Given the description of an element on the screen output the (x, y) to click on. 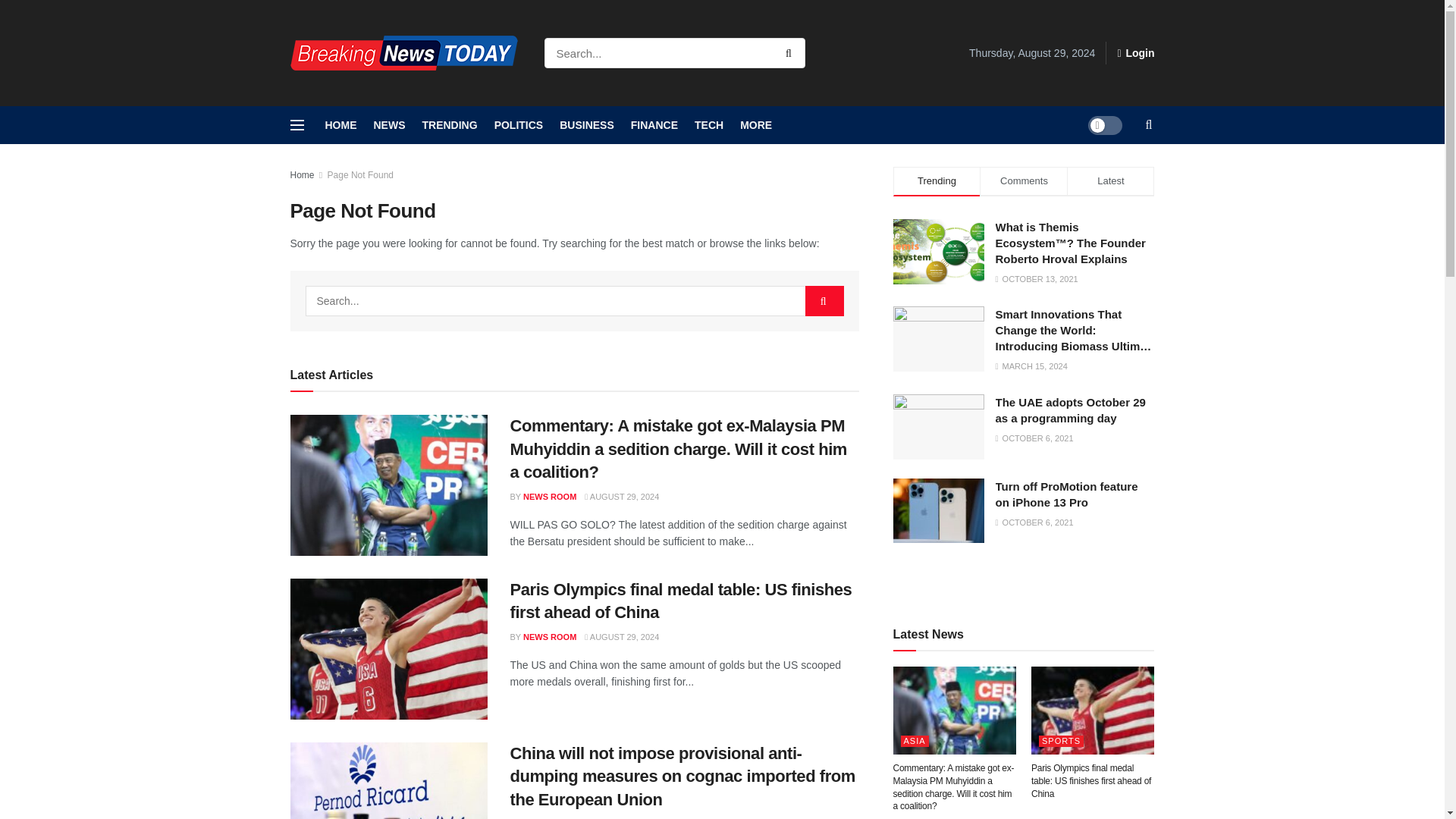
FINANCE (654, 125)
Login (1135, 53)
TRENDING (449, 125)
BUSINESS (586, 125)
POLITICS (519, 125)
